Given the description of an element on the screen output the (x, y) to click on. 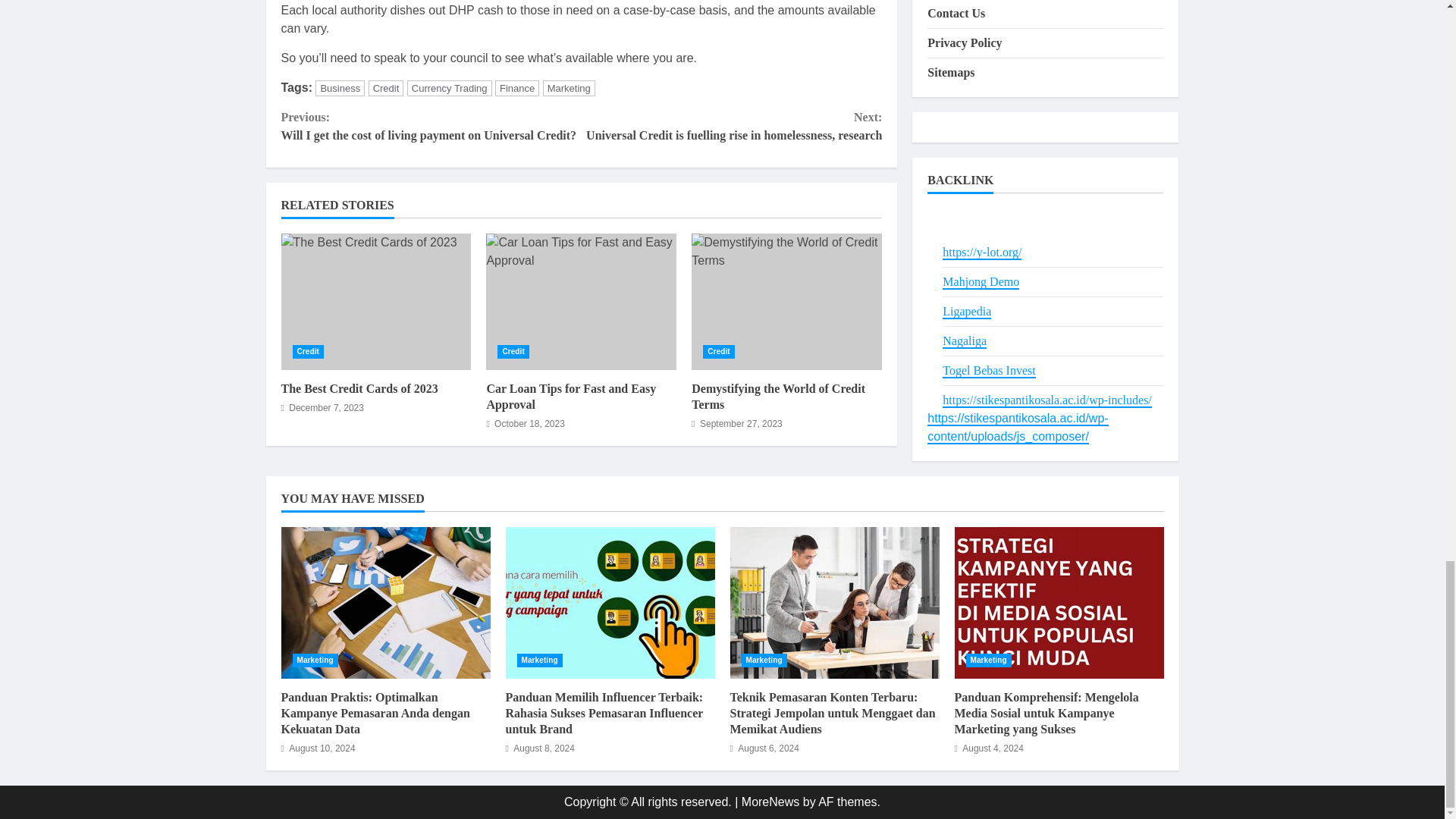
Business (340, 88)
Credit (308, 351)
Demystifying the World of Credit Terms (777, 396)
Finance (516, 88)
Car Loan Tips for Fast and Easy Approval (581, 301)
Car Loan Tips for Fast and Easy Approval (571, 396)
Demystifying the World of Credit Terms (786, 301)
Currency Trading (449, 88)
